Given the description of an element on the screen output the (x, y) to click on. 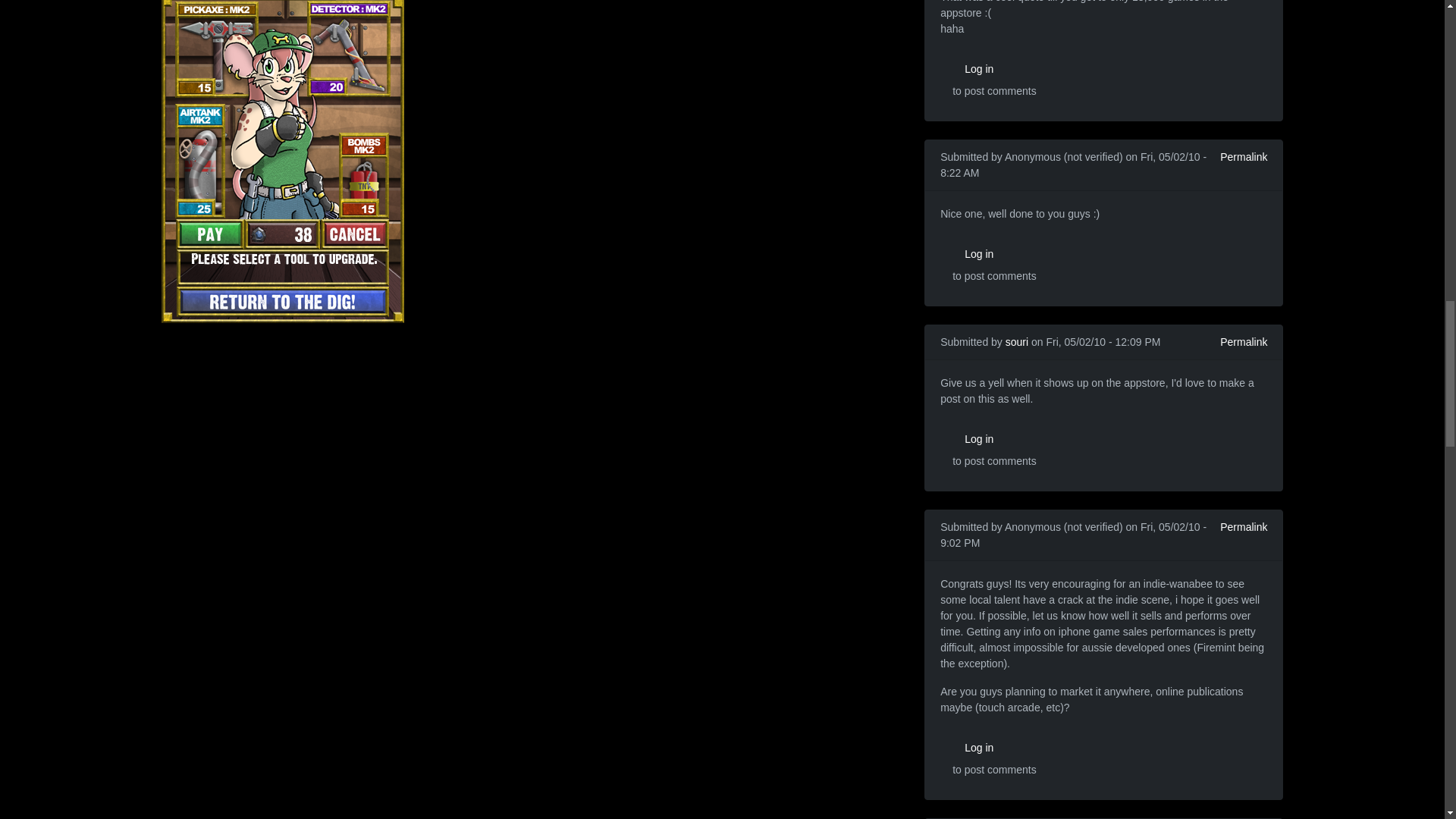
View user profile. (1016, 341)
Mole - Now on the App store! (281, 139)
That was a cool quote till (1029, 3)
